Given the description of an element on the screen output the (x, y) to click on. 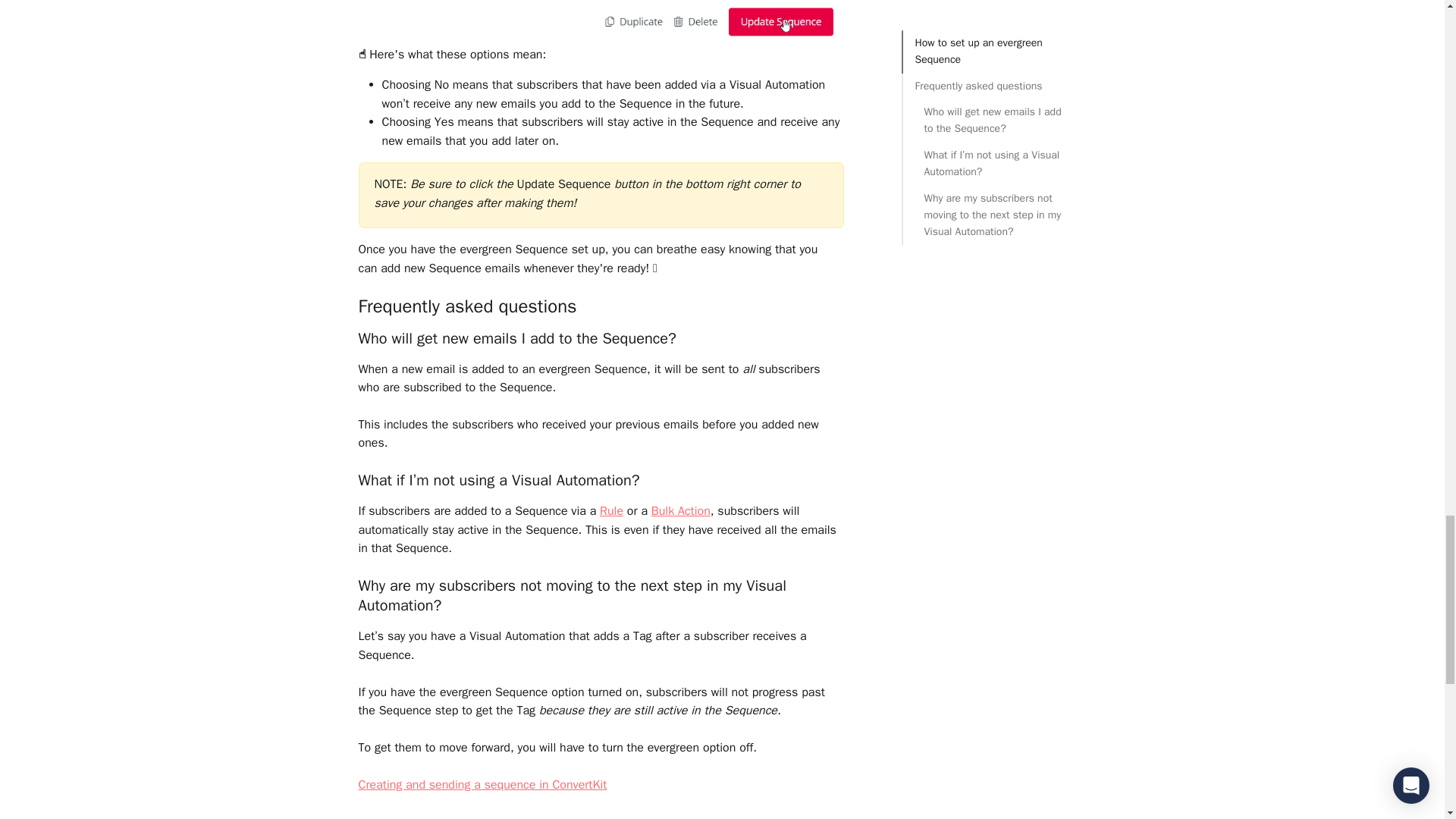
Creating and sending a sequence in ConvertKit (482, 784)
Rule (611, 510)
Bulk Action (680, 510)
